Given the description of an element on the screen output the (x, y) to click on. 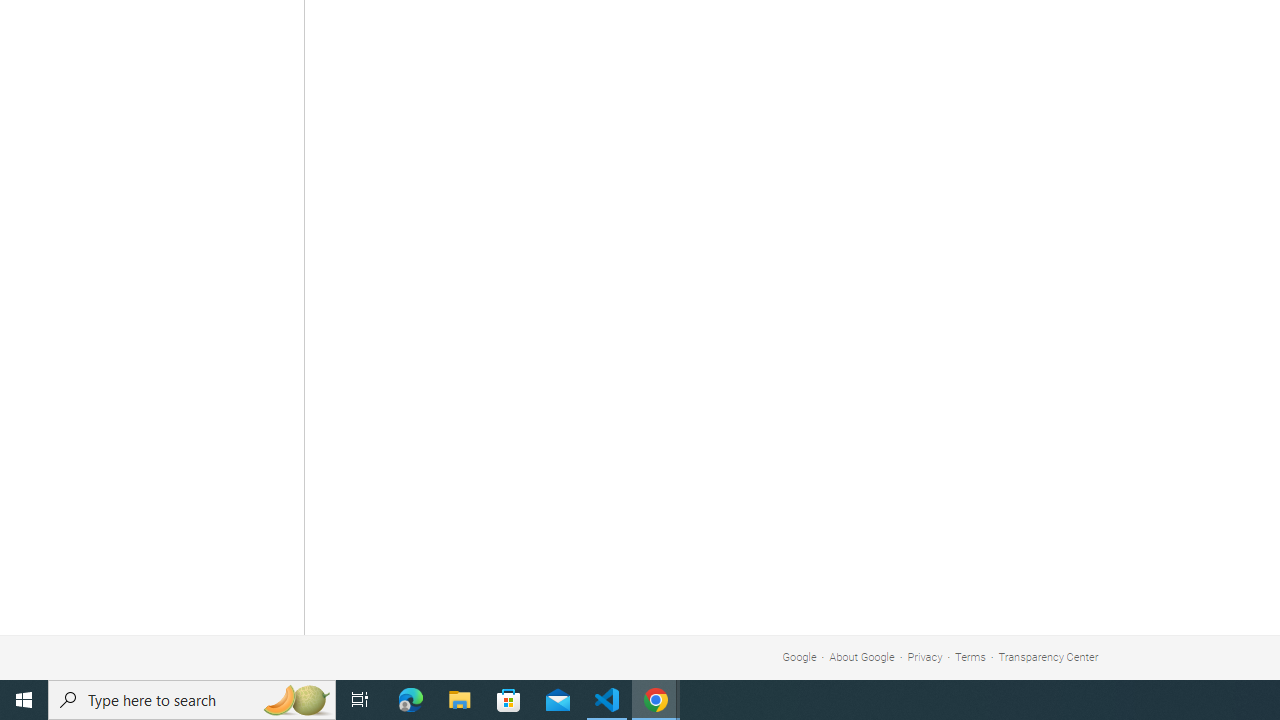
Transparency Center (1048, 656)
About Google (861, 656)
